Given the description of an element on the screen output the (x, y) to click on. 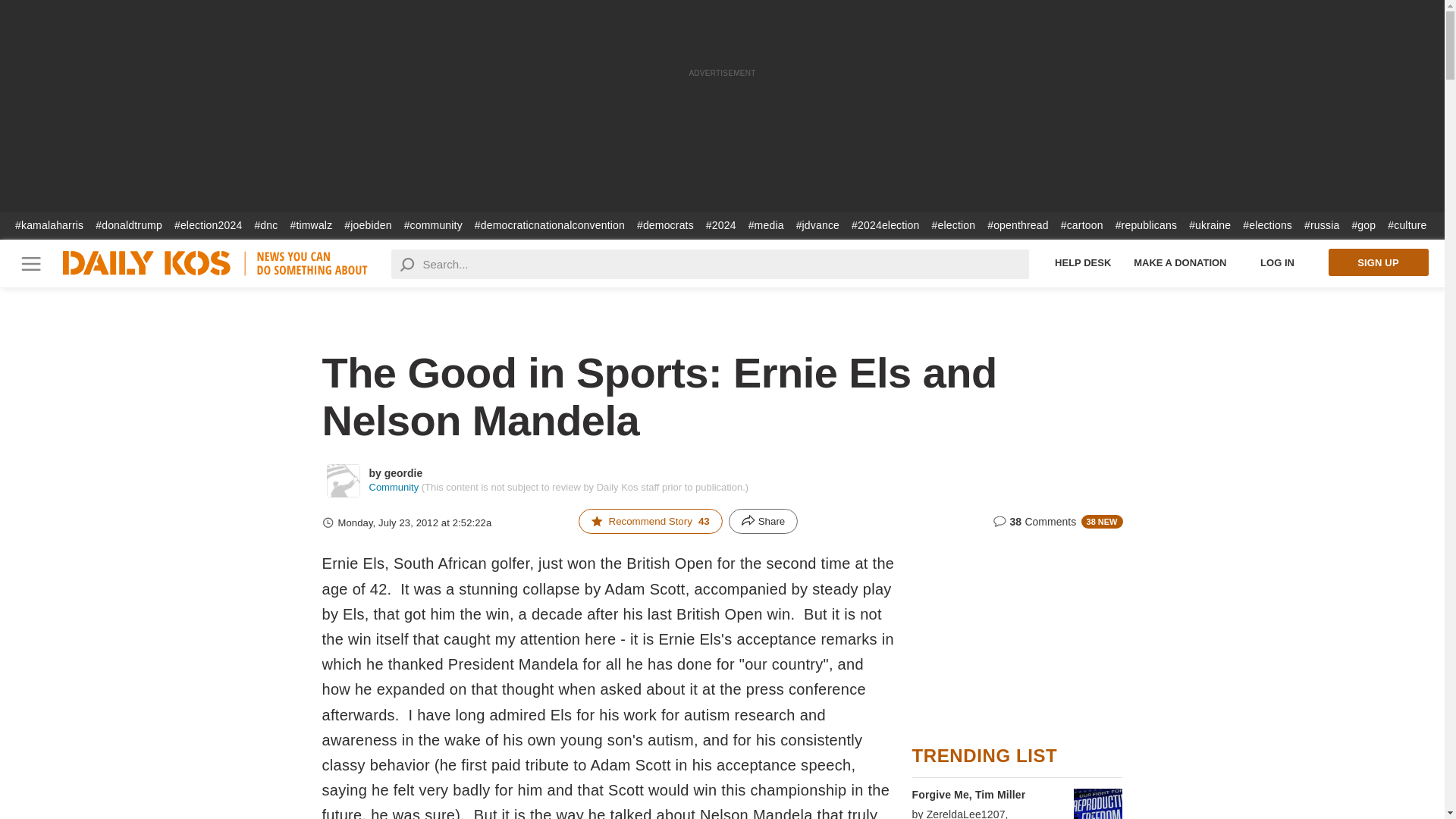
Make a Donation (1179, 262)
Help Desk (1082, 262)
MAKE A DONATION (1179, 262)
